Given the description of an element on the screen output the (x, y) to click on. 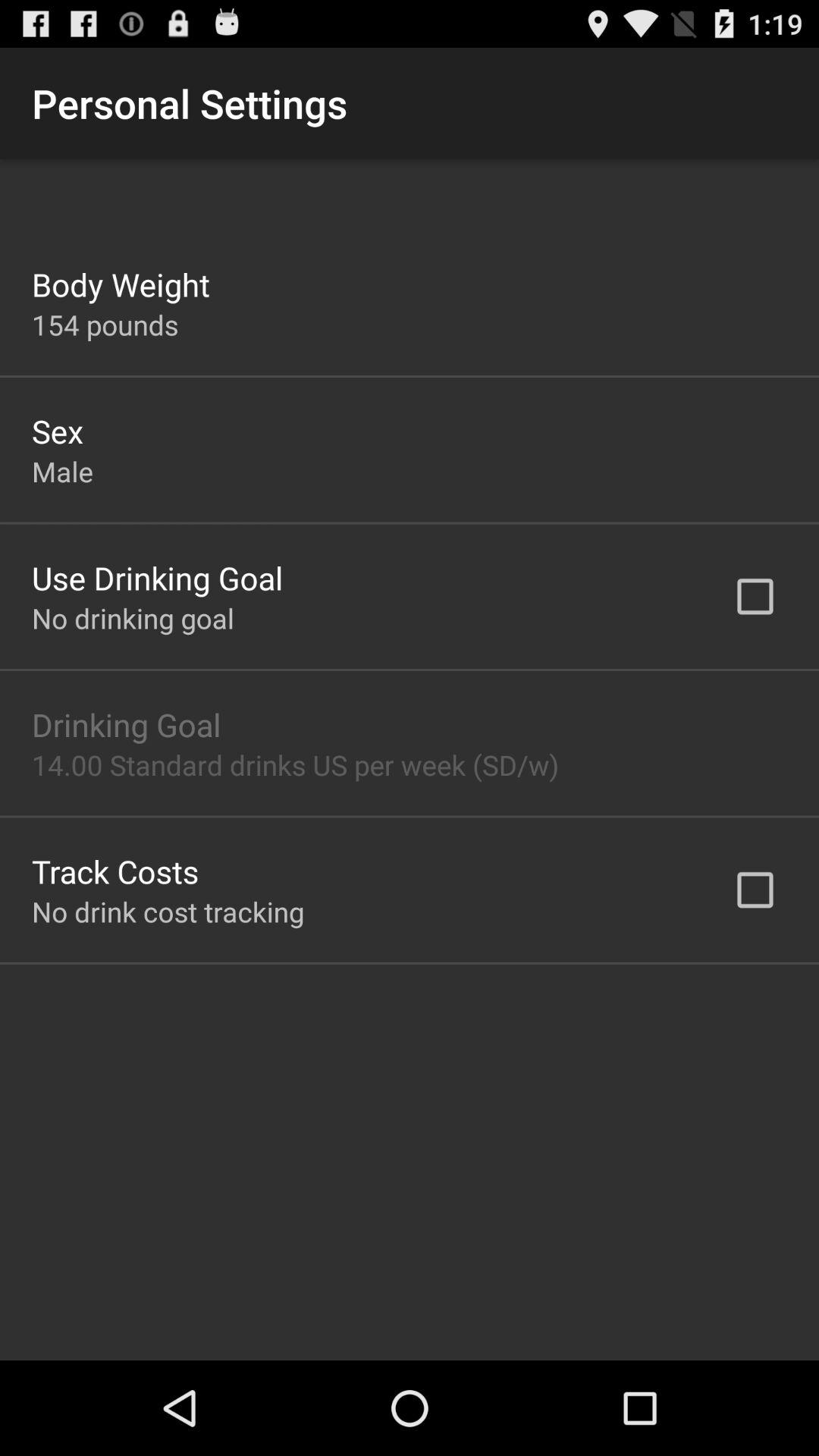
jump to track costs (115, 870)
